Given the description of an element on the screen output the (x, y) to click on. 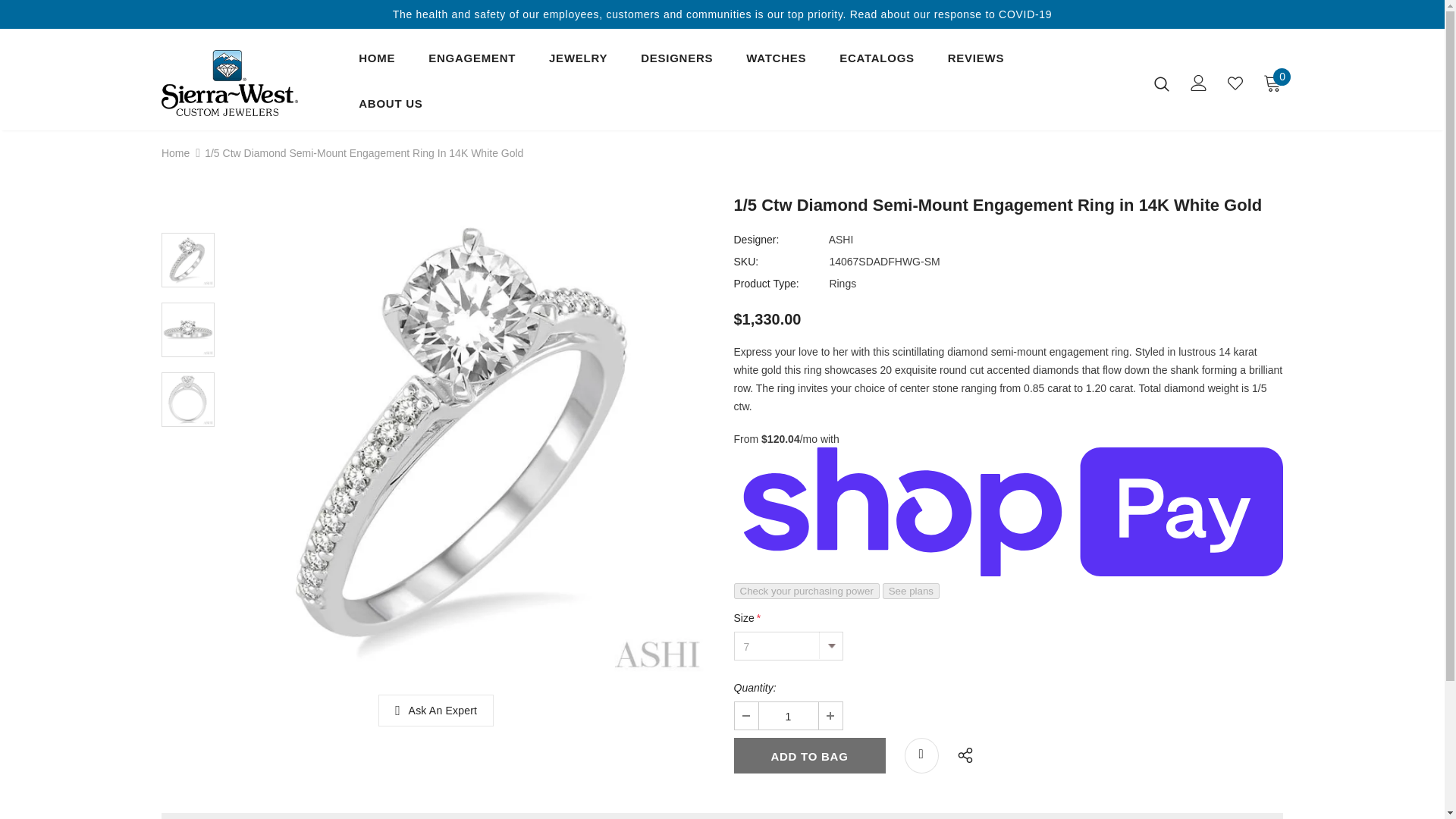
ENGAGEMENT (471, 62)
JEWELRY (577, 62)
DESIGNERS (676, 62)
Add to Bag (809, 755)
ECATALOGS (877, 62)
our response (947, 14)
1 (787, 715)
ABOUT US (390, 107)
REVIEWS (975, 62)
WATCHES (775, 62)
